Given the description of an element on the screen output the (x, y) to click on. 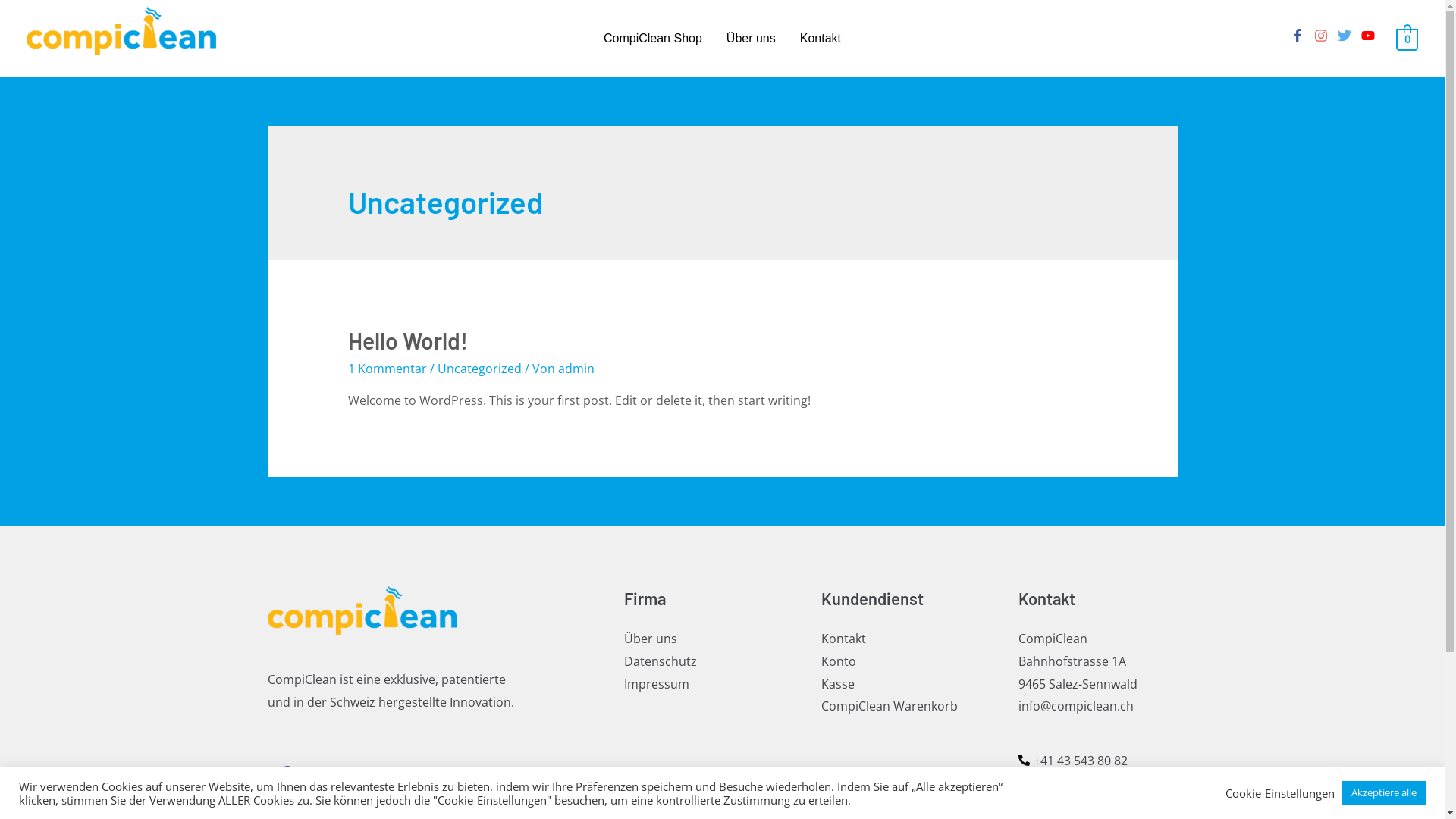
Uncategorized Element type: text (479, 368)
CompiClean Element type: text (1051, 638)
Kontakt Element type: text (820, 38)
Bahnhofstrasse 1A Element type: text (1071, 660)
info@compiclean.ch Element type: text (1074, 705)
CompiClean Shop Element type: text (652, 38)
CompiClean Warenkorb Element type: text (888, 705)
Konto Element type: text (837, 660)
Kontakt Element type: text (842, 638)
Akzeptiere alle Element type: text (1383, 792)
0 Element type: text (1407, 38)
Hello World! Element type: text (407, 340)
+41 43 543 80 82 Element type: text (1071, 760)
admin Element type: text (576, 368)
+41 76 688 80 82 Element type: text (1071, 780)
1 Kommentar Element type: text (387, 368)
9465 Salez-Sennwald Element type: text (1076, 682)
Kasse Element type: text (836, 682)
Cookie-Einstellungen Element type: text (1279, 792)
Datenschutz Element type: text (659, 660)
Impressum Element type: text (655, 682)
